Given the description of an element on the screen output the (x, y) to click on. 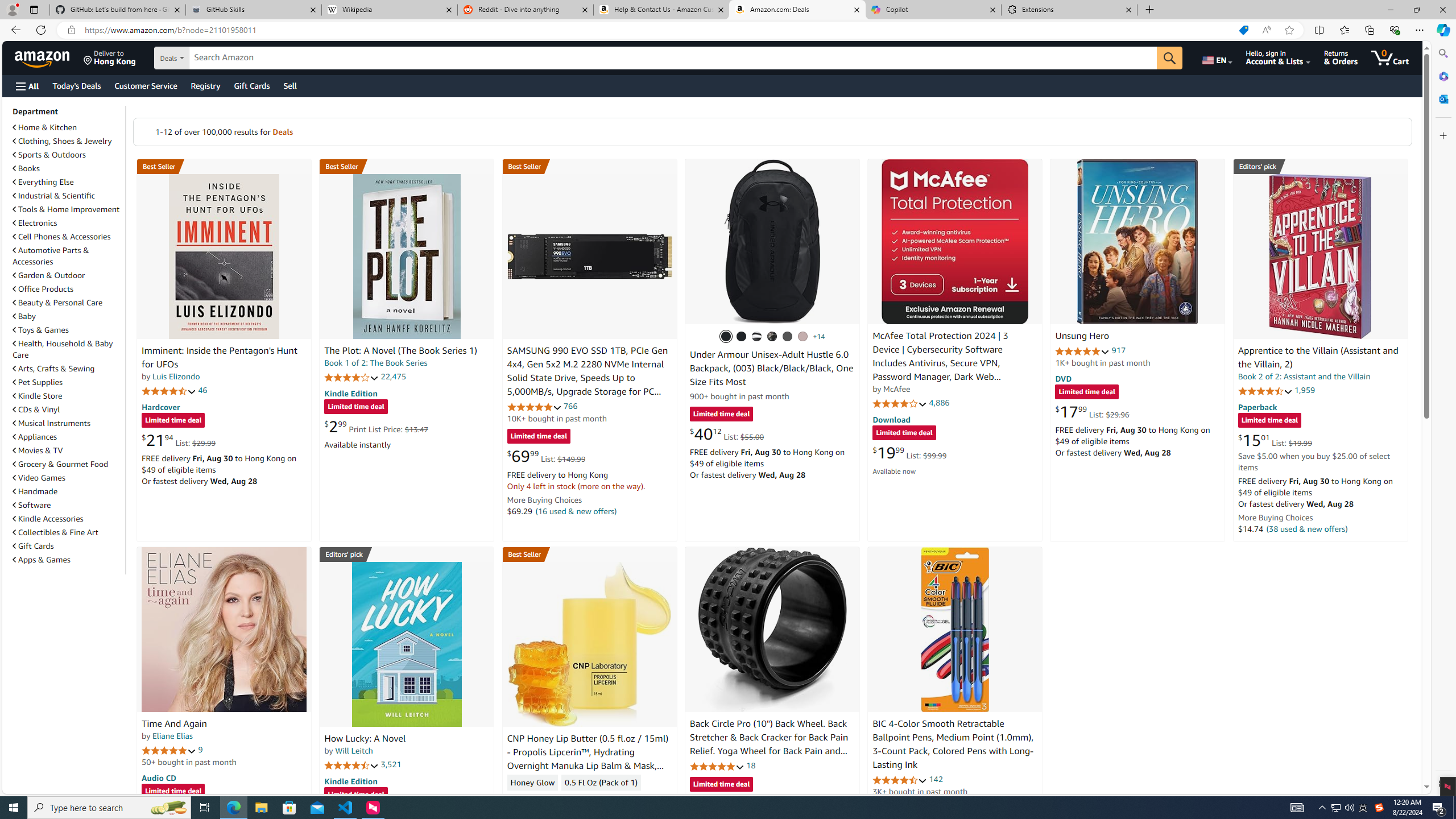
Best Seller in Lip Butters (589, 553)
Imminent: Inside the Pentagon's Hunt for UFOs (223, 256)
The Plot: A Novel (The Book Series 1) (406, 256)
Apps & Games (67, 559)
Kindle Accessories (67, 518)
$17.99 List: $29.96 (1092, 411)
Home & Kitchen (45, 127)
Read aloud this page (Ctrl+Shift+U) (1266, 29)
Collectibles & Fine Art (67, 532)
Books (67, 167)
Imminent: Inside the Pentagon's Hunt for UFOs (219, 358)
Collectibles & Fine Art (56, 532)
+14 (818, 336)
